Given the description of an element on the screen output the (x, y) to click on. 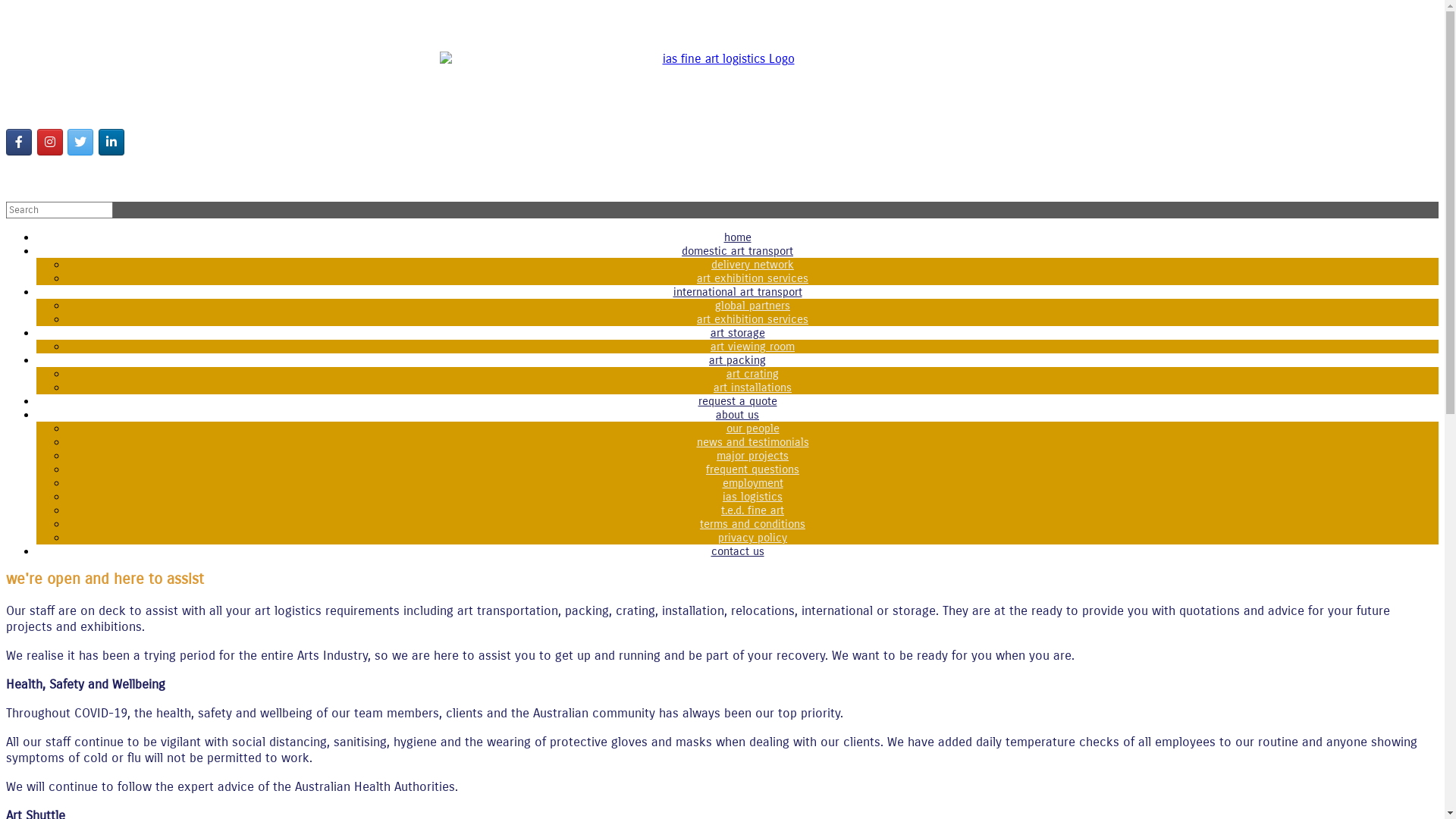
ias fine art logistics on Twitter Element type: hover (80, 141)
art exhibition services Element type: text (752, 277)
frequent questions Element type: text (752, 468)
about us Element type: text (737, 414)
ias fine art logistics on Instagram Element type: hover (49, 141)
domestic art transport Element type: text (737, 250)
ias fine art logistics on Linkedin Element type: hover (111, 141)
request a quote Element type: text (737, 400)
art crating Element type: text (752, 373)
our people Element type: text (752, 427)
privacy policy Element type: text (752, 537)
contact us Element type: text (737, 550)
art packing Element type: text (737, 359)
international art transport Element type: text (737, 291)
ias logistics Element type: text (752, 496)
art storage Element type: text (736, 332)
art installations Element type: text (752, 387)
news and testimonials Element type: text (751, 441)
terms and conditions Element type: text (752, 523)
employment Element type: text (752, 482)
art viewing room Element type: text (752, 346)
home Element type: text (736, 236)
t.e.d. fine art Element type: text (752, 509)
major projects Element type: text (752, 455)
global partners Element type: text (752, 305)
art exhibition services Element type: text (752, 318)
delivery network Element type: text (752, 264)
ias fine art logistics Element type: hover (722, 89)
Follow us Element type: hover (18, 141)
